Given the description of an element on the screen output the (x, y) to click on. 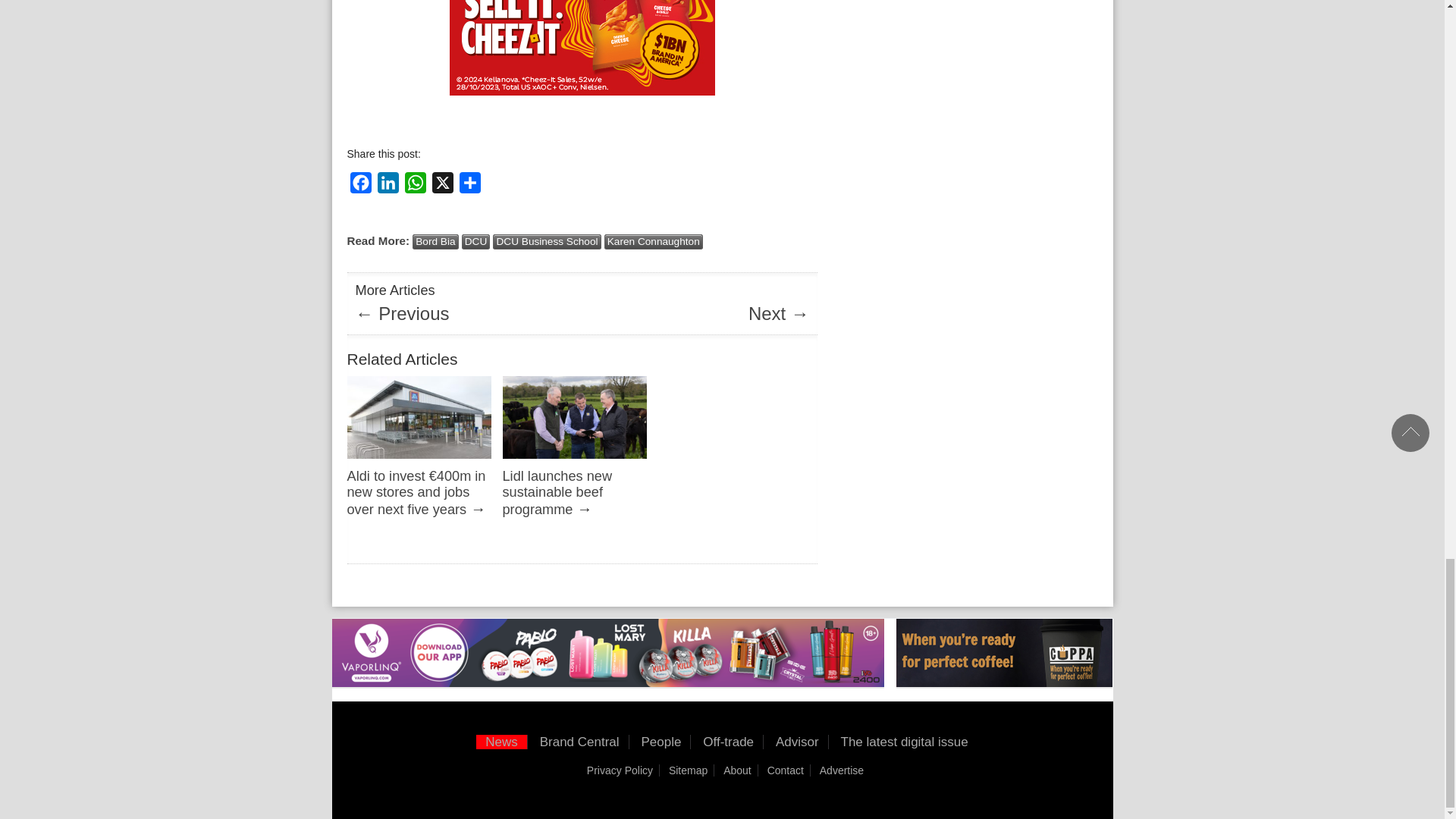
Lidl launches new sustainable beef programme (556, 492)
Lidl launches new sustainable beef programme (574, 462)
WhatsApp (415, 183)
Bord Bia (435, 241)
Facebook (360, 183)
X (443, 183)
LinkedIn (387, 183)
DCU (475, 241)
